Given the description of an element on the screen output the (x, y) to click on. 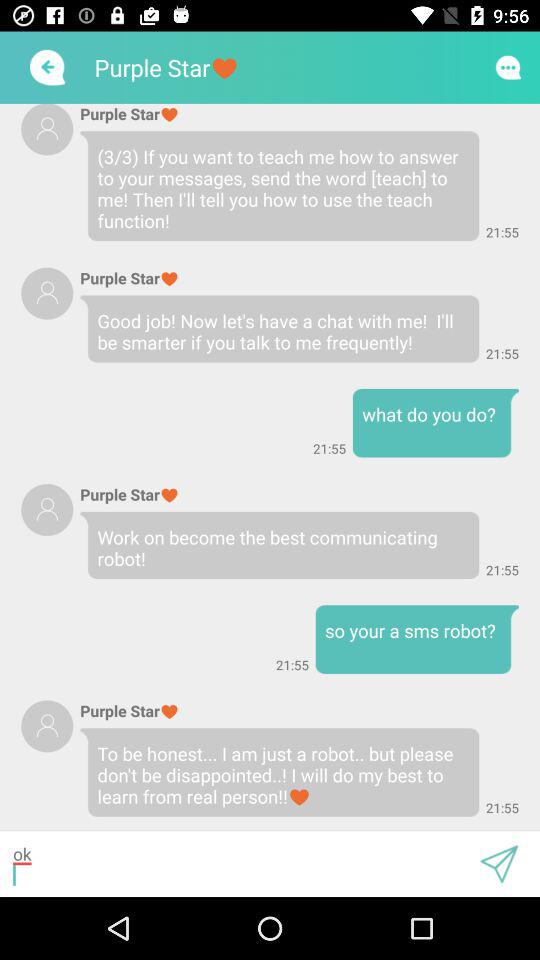
select ok
 icon (239, 863)
